Given the description of an element on the screen output the (x, y) to click on. 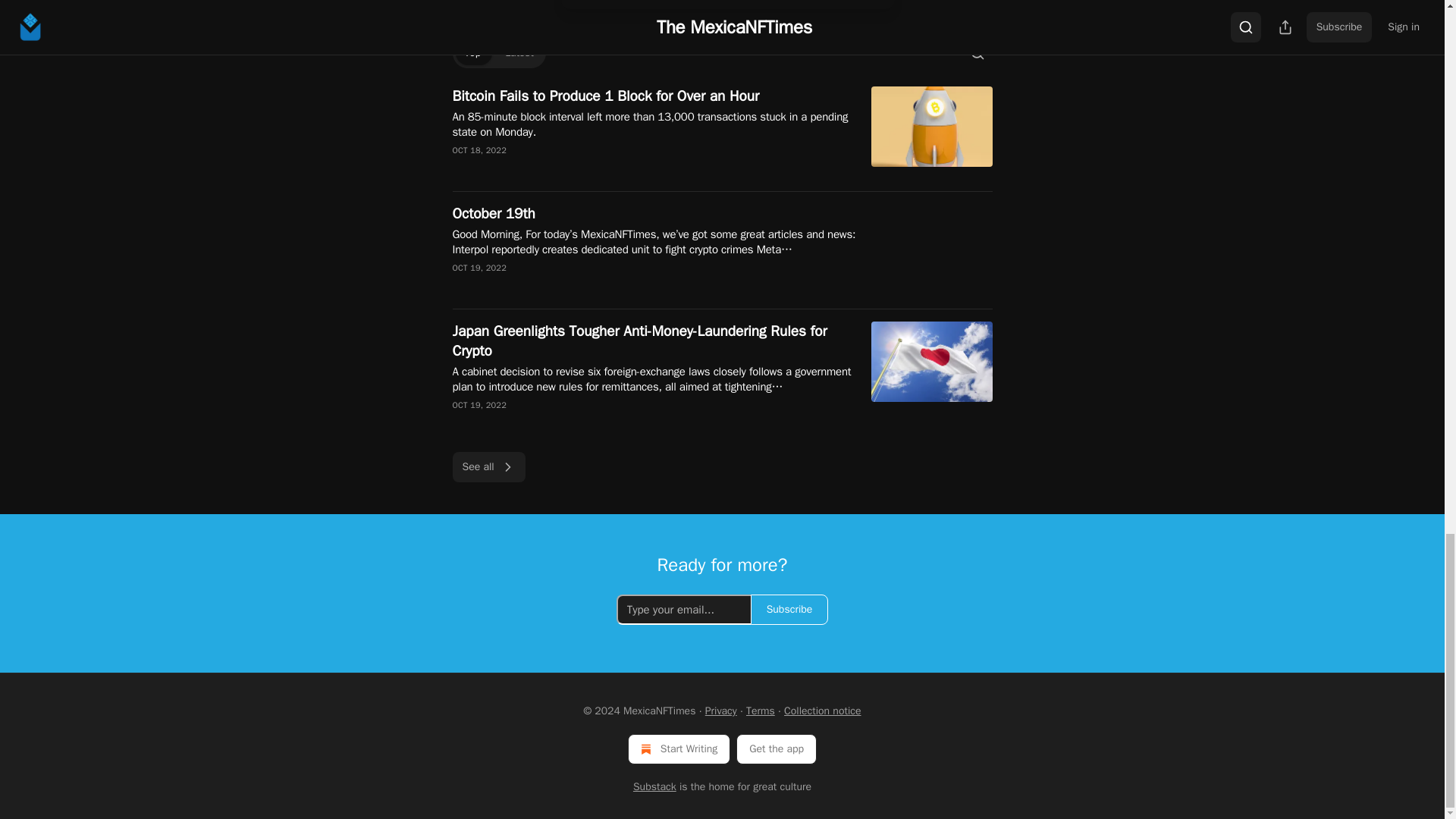
Latest (518, 52)
Next (966, 3)
Top (471, 52)
Previous (485, 3)
Bitcoin Fails to Produce 1 Block for Over an Hour (660, 96)
